Given the description of an element on the screen output the (x, y) to click on. 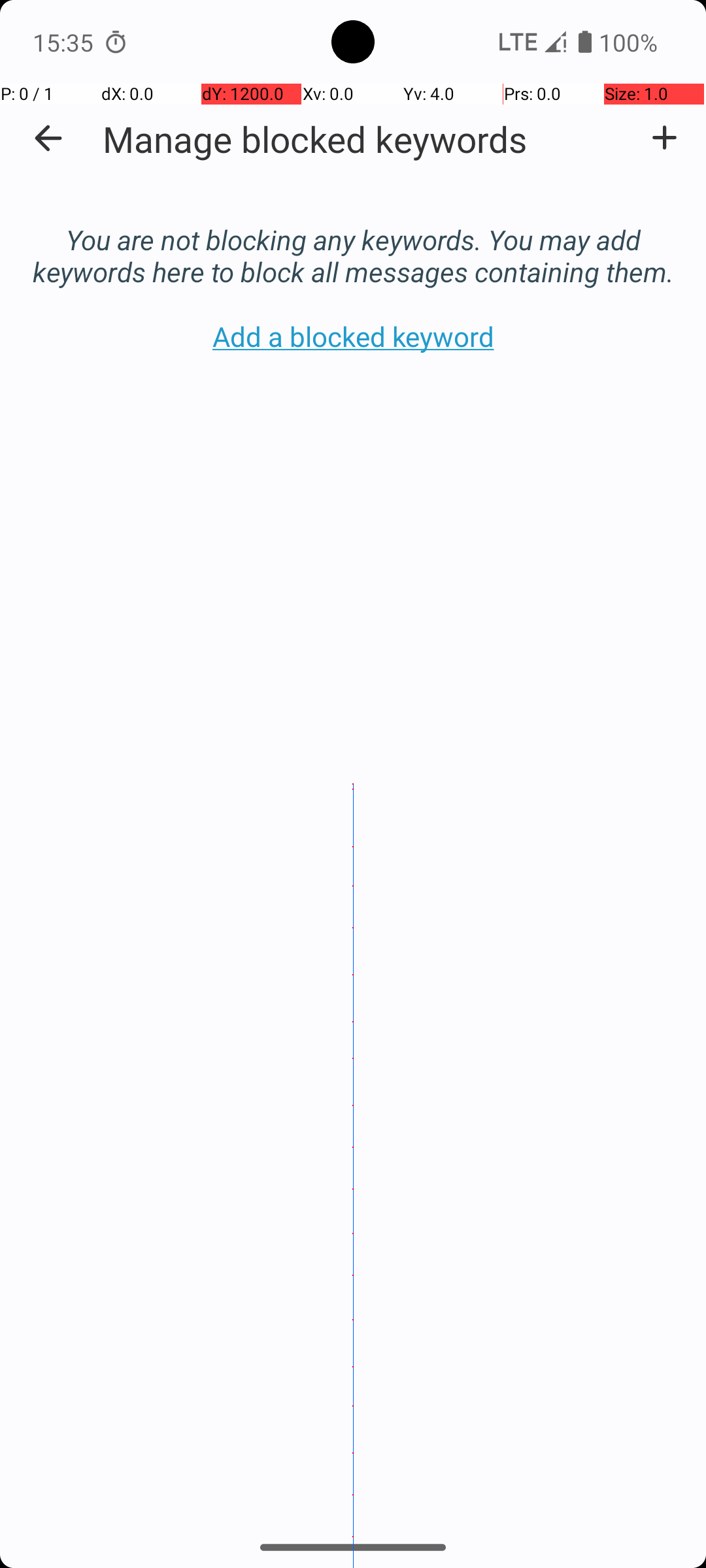
Add a blocked keyword Element type: android.widget.Button (664, 137)
You are not blocking any keywords. You may add keywords here to block all messages containing them. Element type: android.widget.TextView (353, 241)
